Given the description of an element on the screen output the (x, y) to click on. 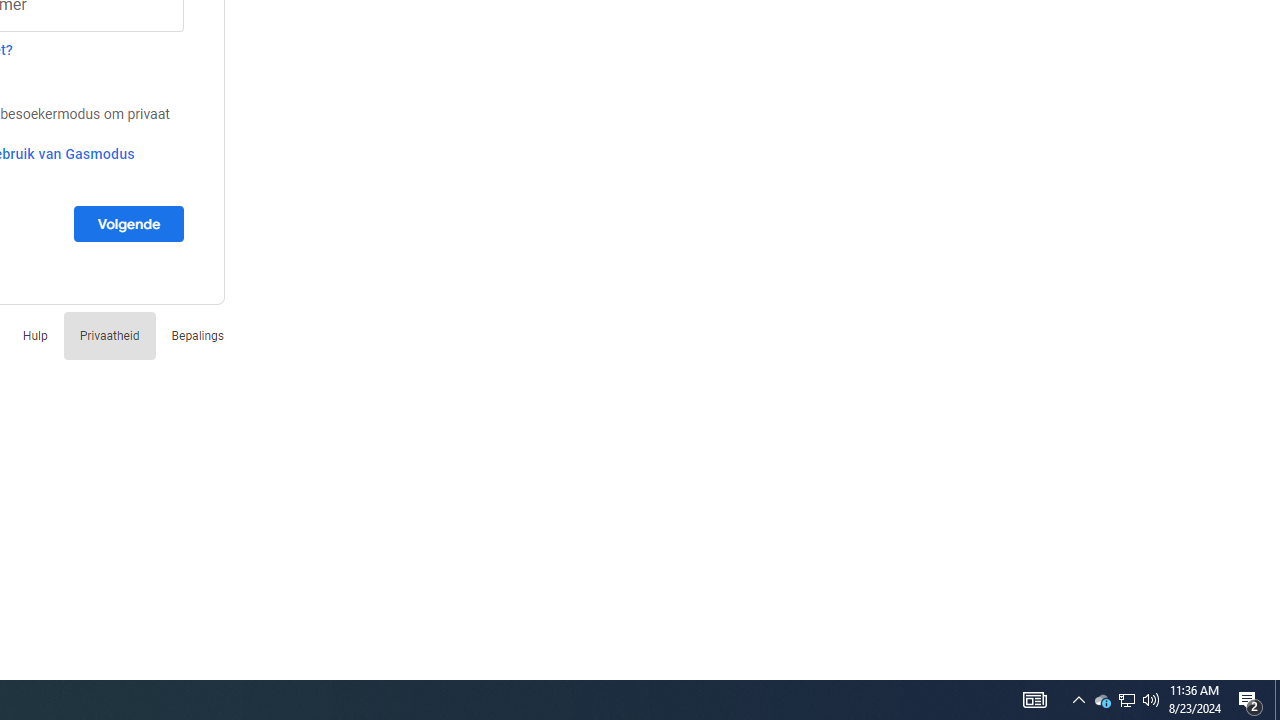
Volgende (128, 223)
Bepalings (197, 335)
Privaatheid (109, 335)
Hulp (35, 335)
